Given the description of an element on the screen output the (x, y) to click on. 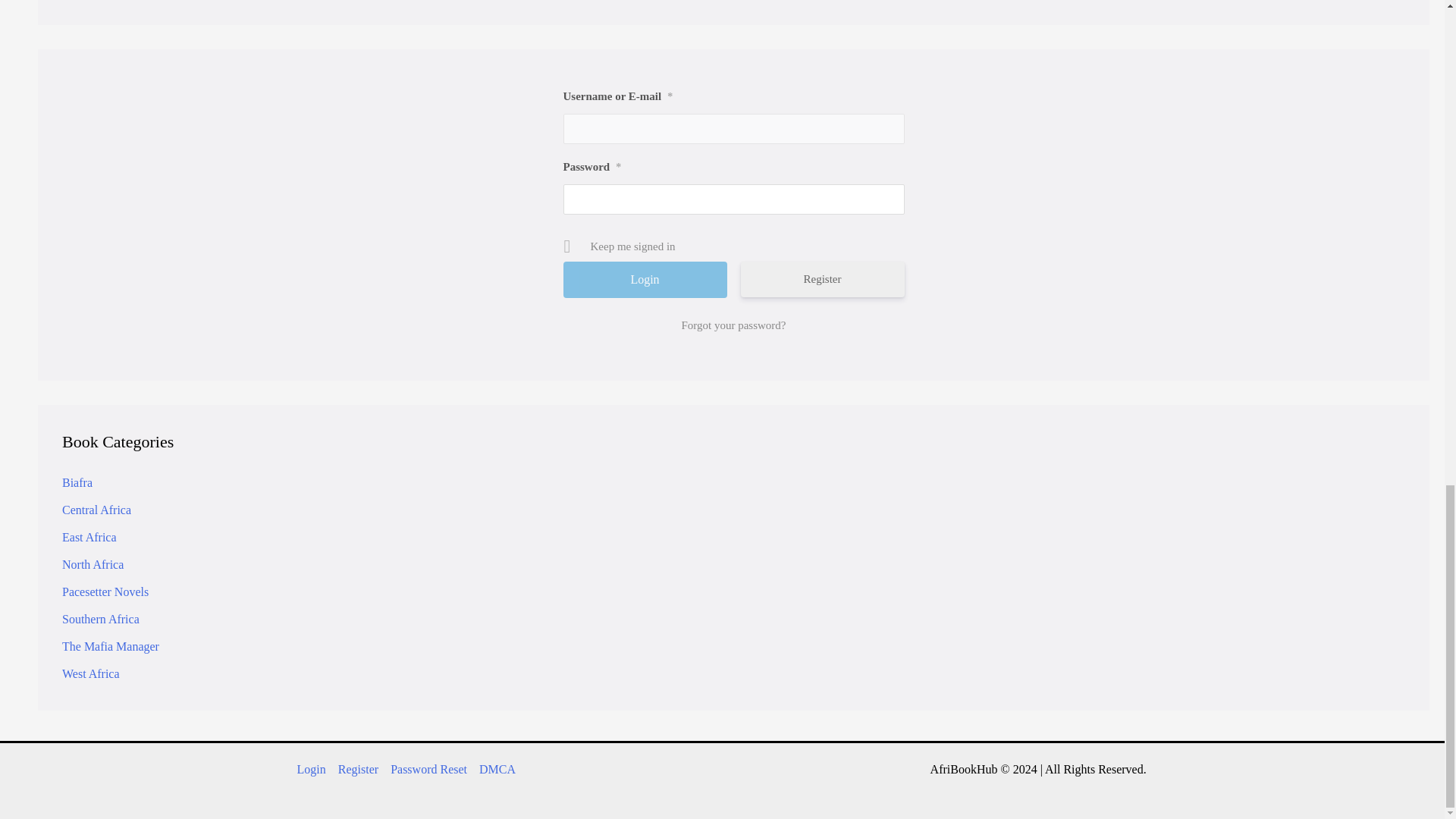
Login (314, 769)
West Africa (90, 673)
Login (644, 279)
Login (644, 279)
Password Reset (428, 769)
East Africa (89, 536)
Pacesetter Novels (105, 591)
Forgot your password? (733, 324)
Southern Africa (100, 618)
Central Africa (96, 509)
